Given the description of an element on the screen output the (x, y) to click on. 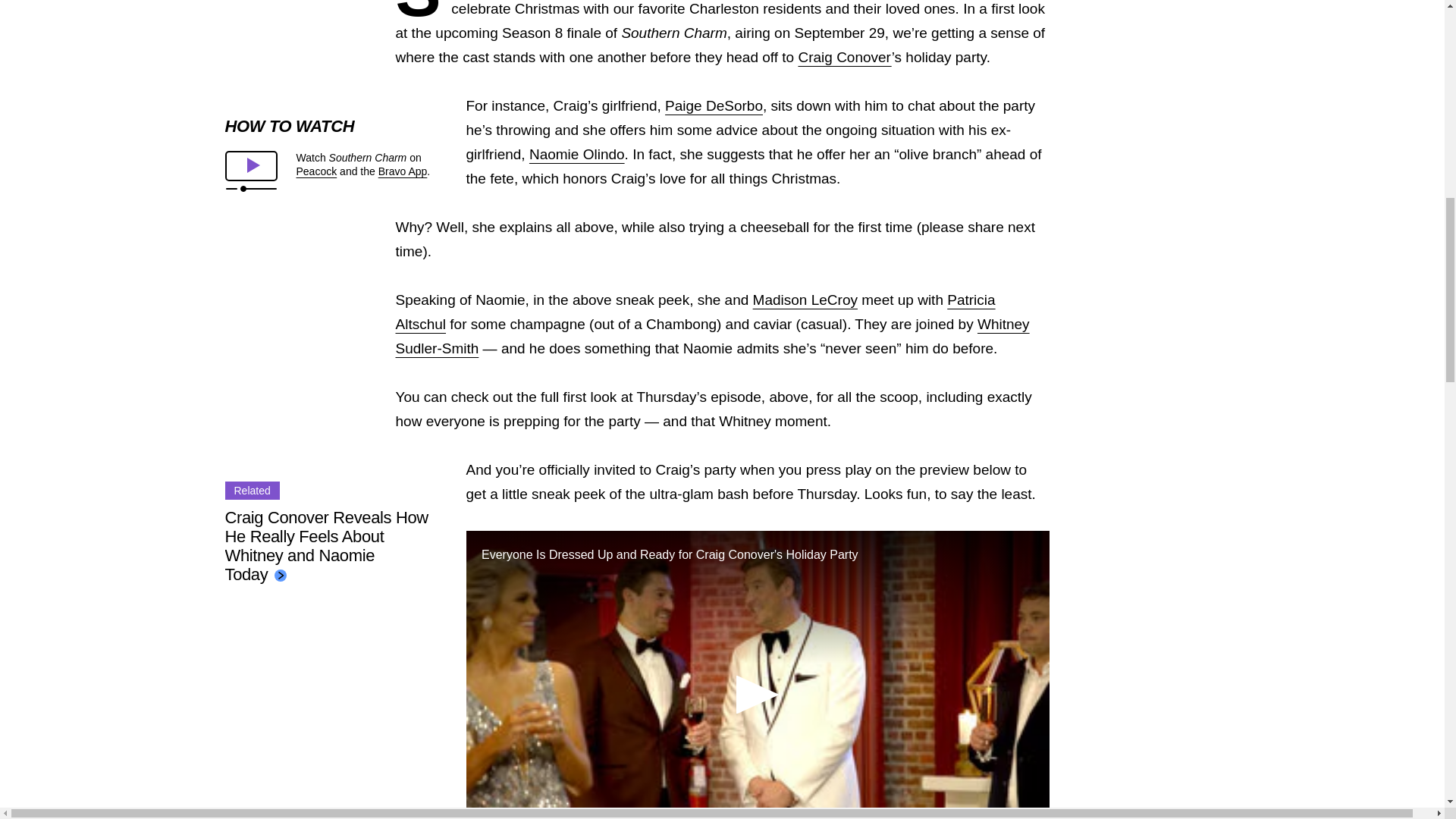
Patricia Altschul (695, 311)
Paige DeSorbo (713, 105)
Naomie Olindo (576, 154)
Madison LeCroy (804, 299)
Craig Conover (844, 57)
Whitney Sudler-Smith (712, 336)
Craig Conover (844, 57)
Bravo App (403, 171)
Paige DeSorbo (713, 105)
Peacock (315, 171)
Whitney Sudler-Smith (712, 336)
Naomie Olindo (576, 154)
Madison LeCroy (804, 299)
Patricia Altschul (695, 311)
